Given the description of an element on the screen output the (x, y) to click on. 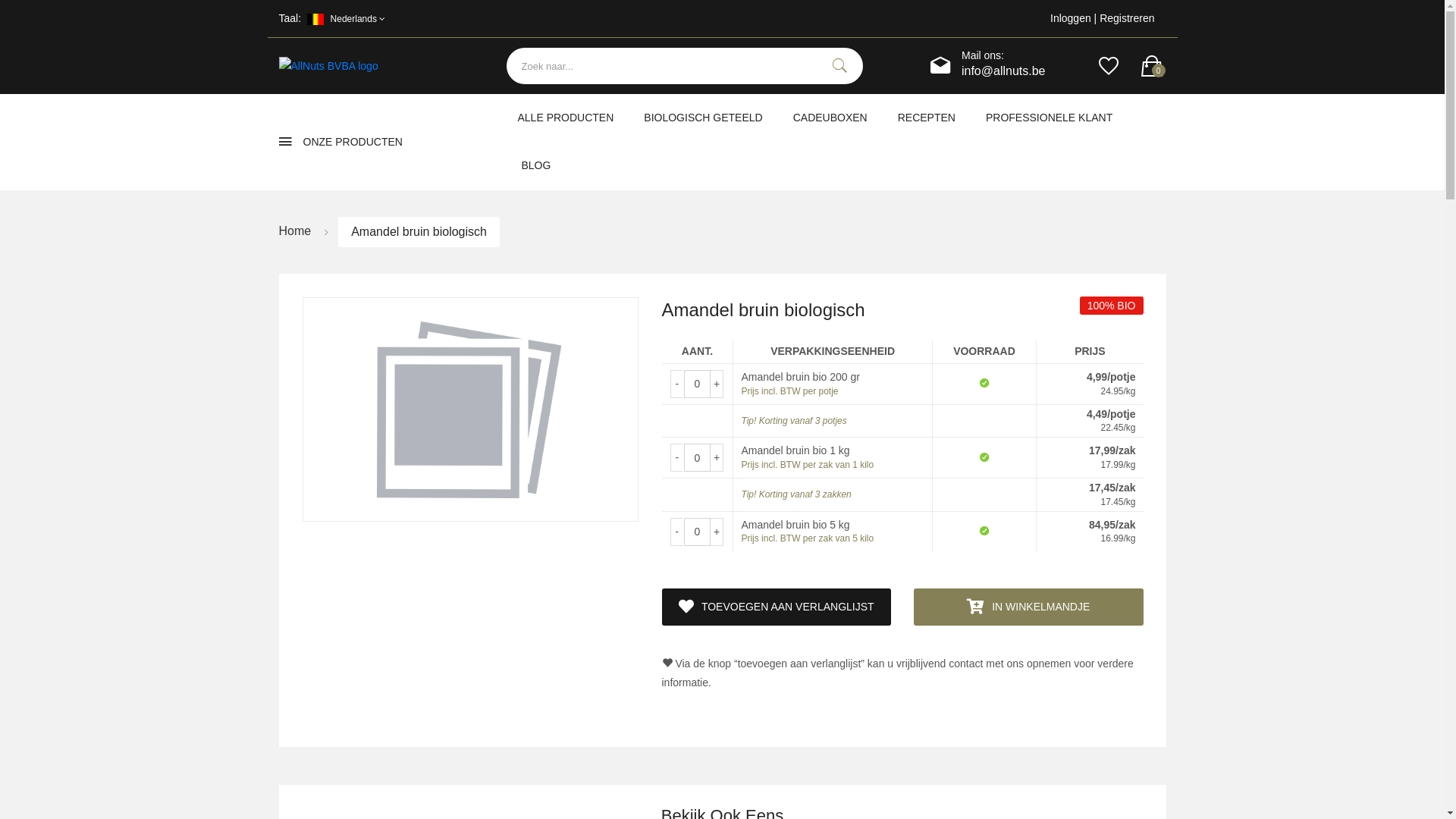
BIOLOGISCH GETEELD Element type: text (702, 117)
PROFESSIONELE KLANT Element type: text (1048, 117)
Mail ons:
info@allnuts.be Element type: text (1003, 63)
Home Element type: text (295, 230)
RECEPTEN Element type: text (926, 117)
TOEVOEGEN AAN VERLANGLIJST Element type: text (776, 606)
IN WINKELMANDJE Element type: text (1028, 606)
CADEUBOXEN Element type: text (829, 117)
Inloggen | Registreren Element type: text (1086, 18)
BLOG Element type: text (535, 165)
ALLE PRODUCTEN Element type: text (565, 117)
0 Element type: text (1150, 65)
